Given the description of an element on the screen output the (x, y) to click on. 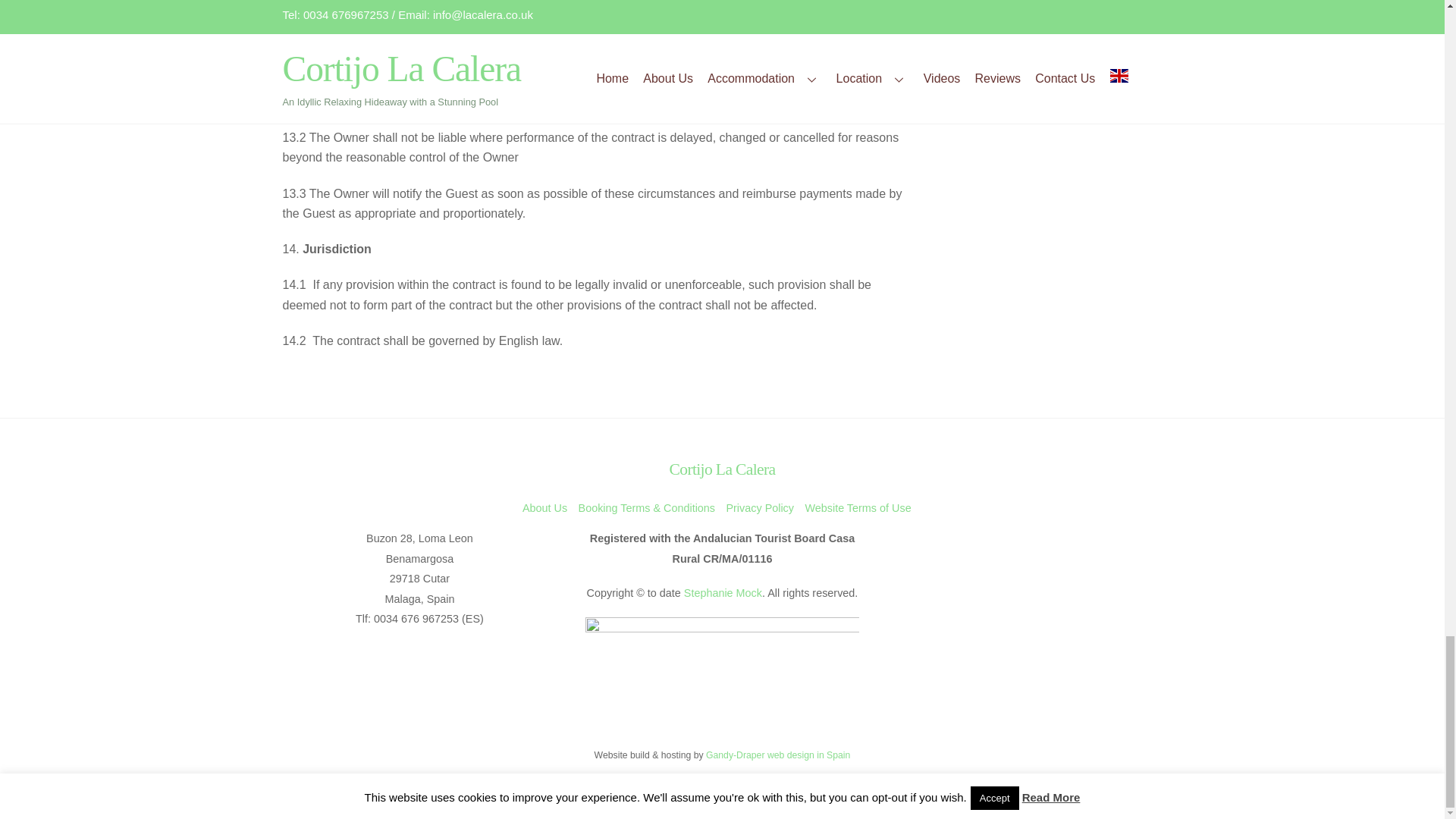
Stephanie Mock (722, 592)
About Us (544, 508)
Cortijo La Calera (721, 469)
Website Terms of Use (858, 508)
Privacy Policy (759, 508)
Gandy-Draper web design in Spain (778, 755)
Cortijo La Calera (721, 469)
